Given the description of an element on the screen output the (x, y) to click on. 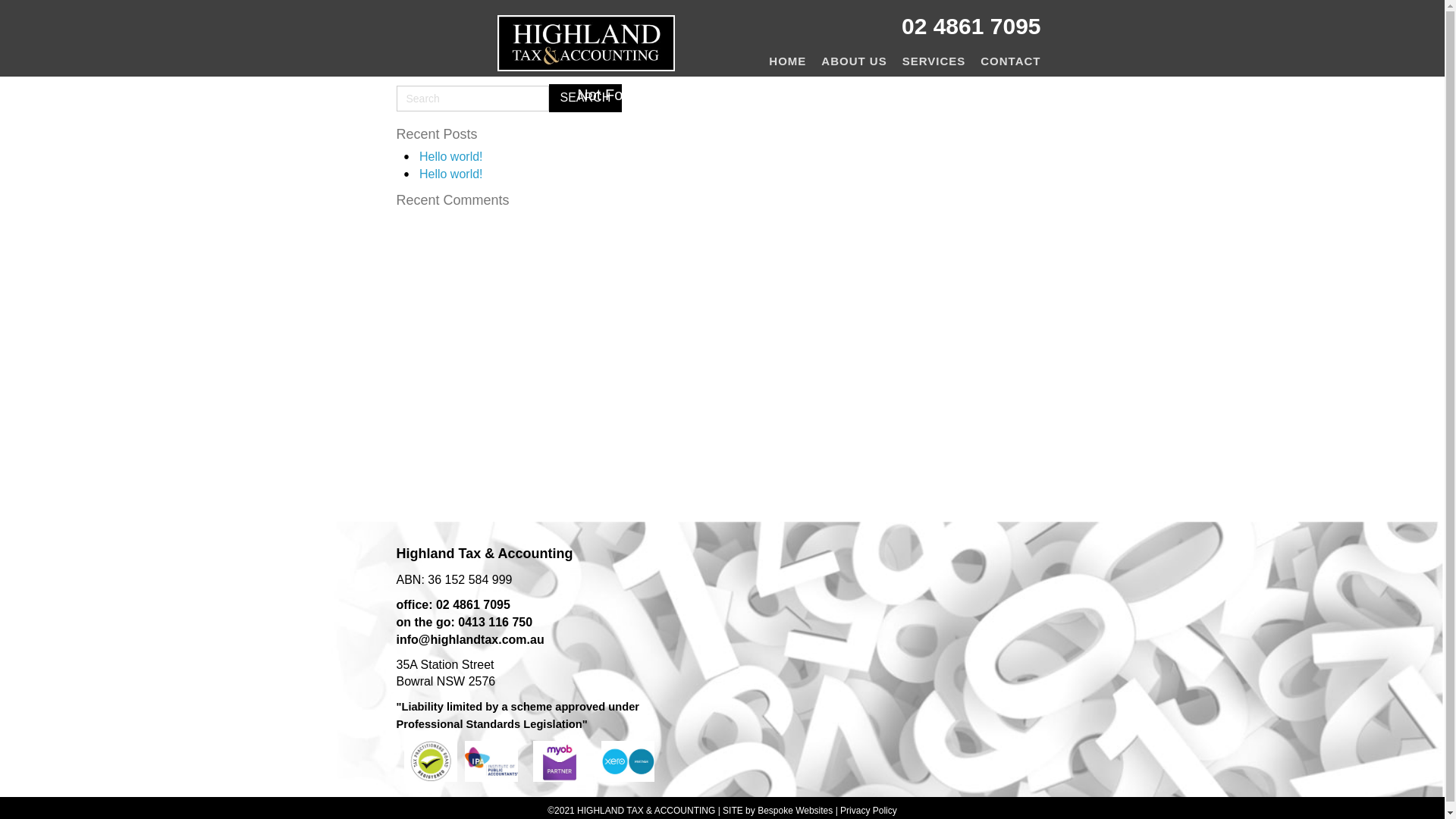
Search Element type: text (585, 98)
HOME Element type: text (787, 60)
Privacy Policy Element type: text (868, 810)
CONTACT Element type: text (1010, 60)
Hello world! Element type: text (451, 173)
02 4861 7095 Element type: text (971, 25)
SERVICES Element type: text (933, 60)
ABOUT US Element type: text (853, 60)
Bespoke Websites Element type: text (794, 810)
Hello world! Element type: text (451, 156)
